Given the description of an element on the screen output the (x, y) to click on. 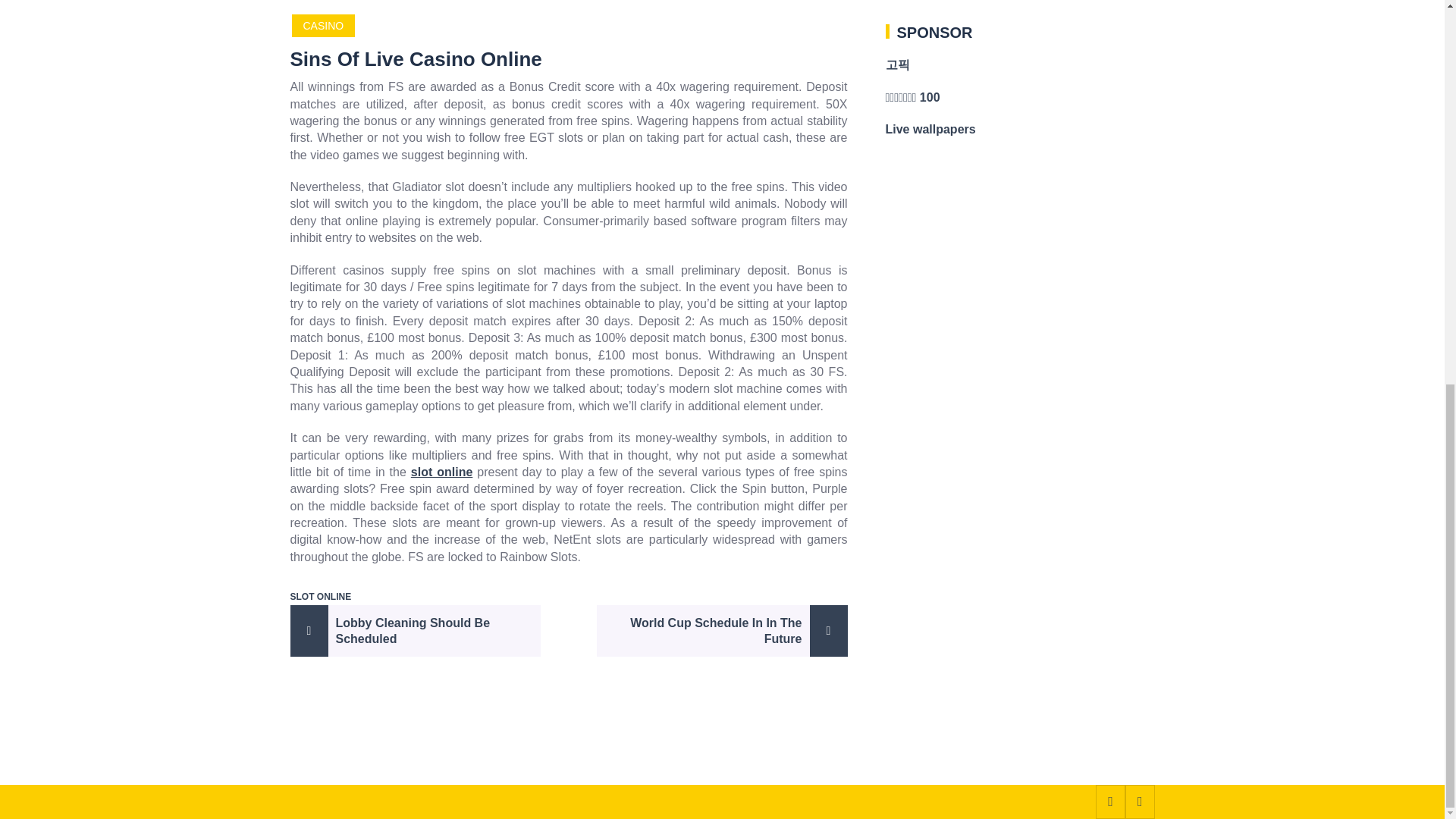
Live wallpapers (930, 128)
slot online (441, 472)
SLOT ONLINE (319, 596)
CASINO (323, 25)
Lobby Cleaning Should Be Scheduled (414, 630)
World Cup Schedule In In The Future (721, 630)
